Given the description of an element on the screen output the (x, y) to click on. 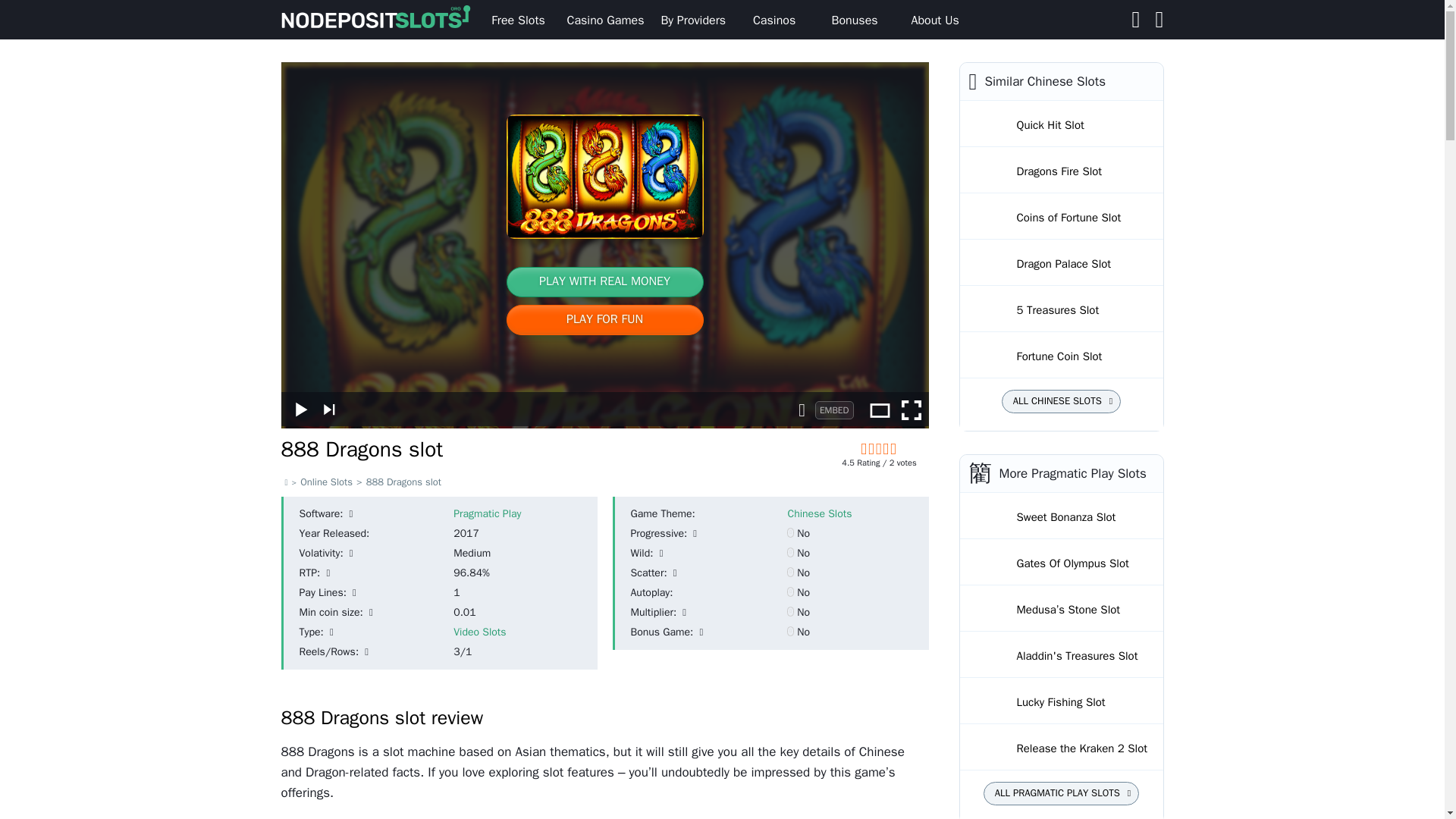
Casinos (774, 20)
By Providers (692, 20)
By Providers (692, 20)
NoDepositSlots.org (379, 20)
Casino Games (605, 20)
Free Slots (518, 20)
Casino Games (605, 20)
Free Slots (518, 20)
